Given the description of an element on the screen output the (x, y) to click on. 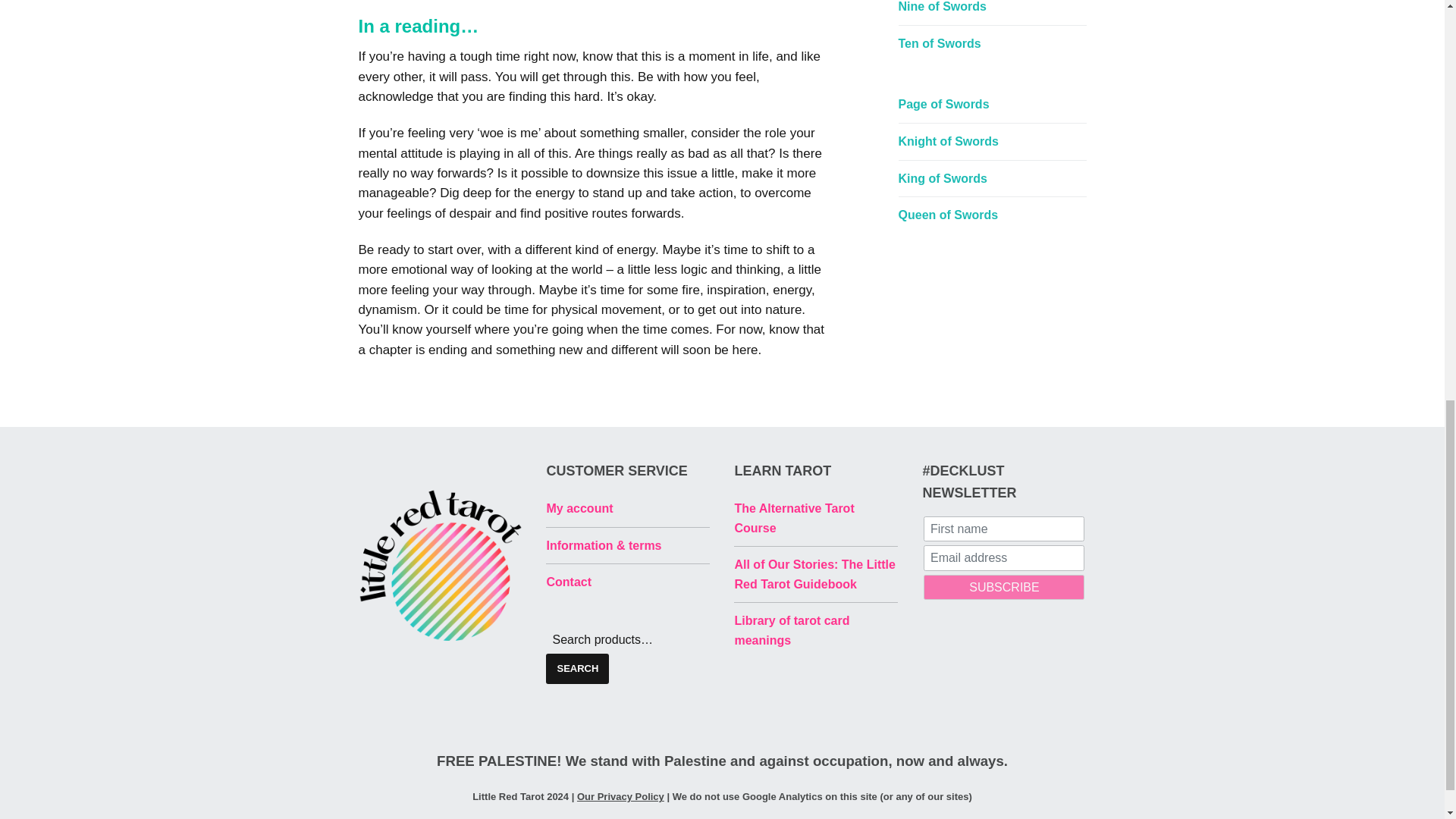
Subscribe (1003, 587)
